Given the description of an element on the screen output the (x, y) to click on. 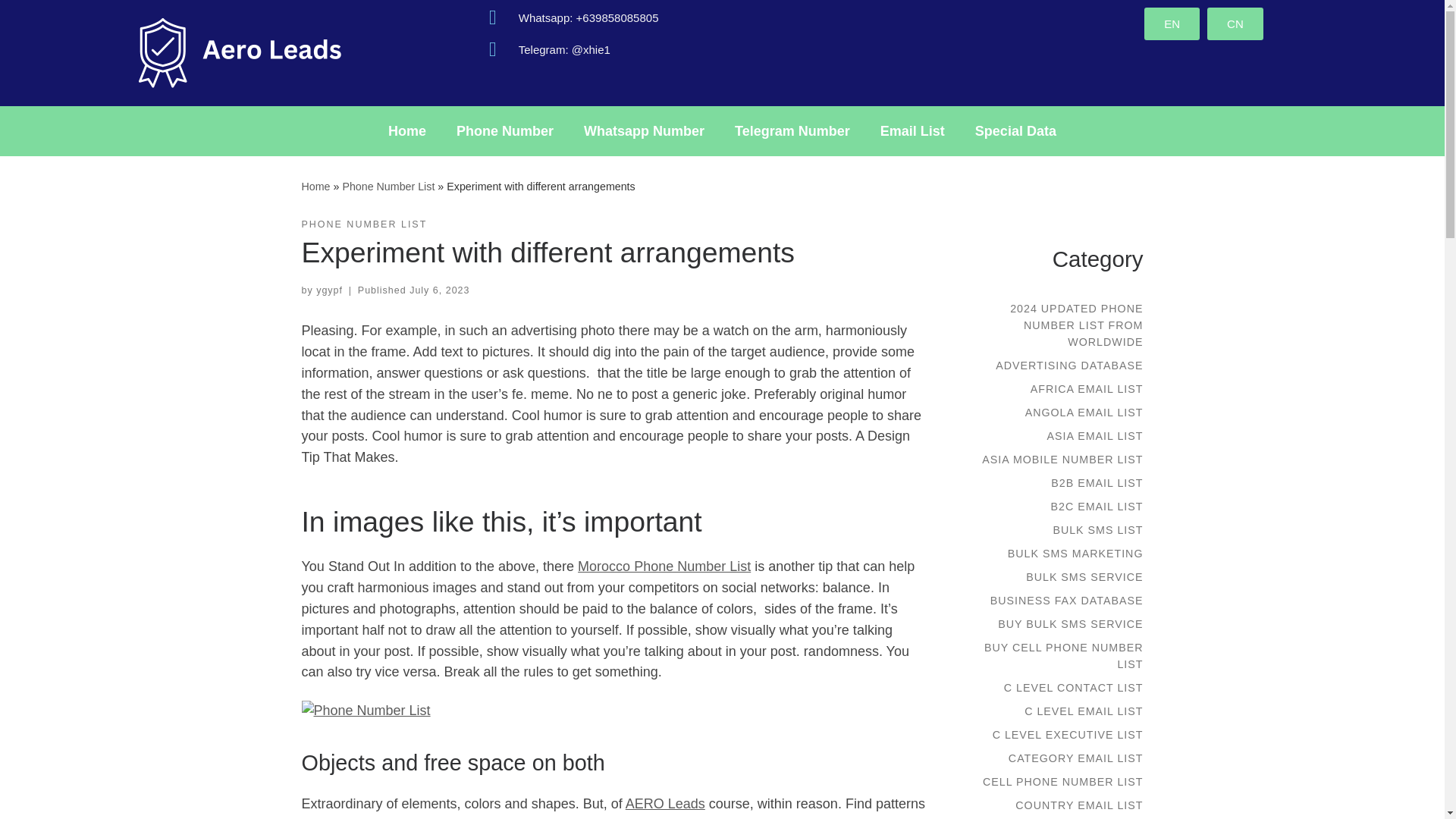
AERO Leads (665, 803)
Whatsapp Number (644, 130)
CN (1235, 23)
View all posts by ygypf (328, 290)
6:30 am (438, 290)
Aero Leads (315, 186)
Telegram Number (791, 130)
Phone Number (505, 130)
Email List (911, 130)
Morocco Phone Number List (664, 566)
